Given the description of an element on the screen output the (x, y) to click on. 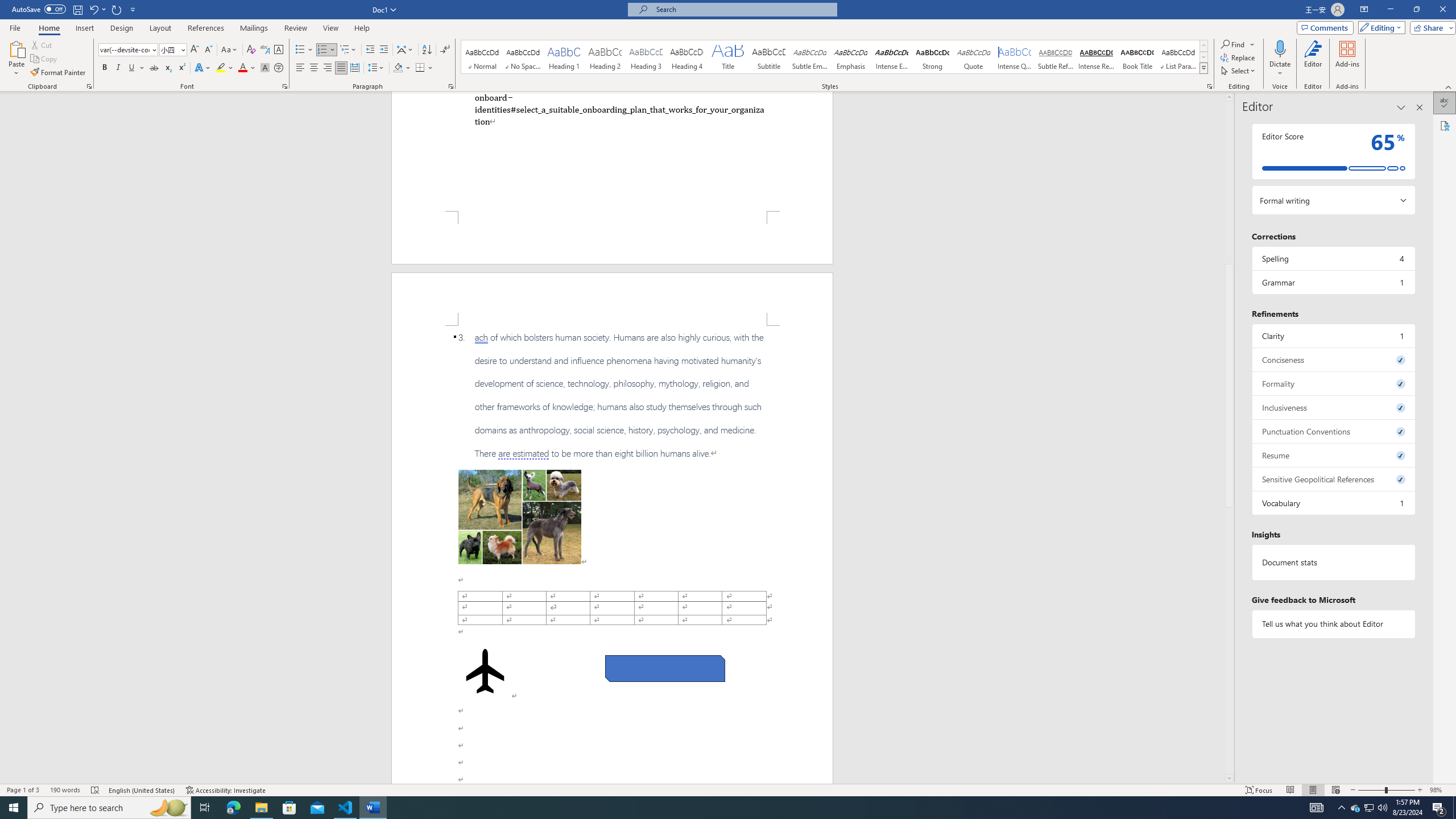
Subtitle (768, 56)
Task Pane Options (1400, 107)
Accessibility (1444, 125)
Morphological variation in six dogs (519, 517)
Justify (340, 67)
Share (1430, 27)
Phonetic Guide... (264, 49)
Show/Hide Editing Marks (444, 49)
Row Down (1203, 56)
Underline (131, 67)
Shading (402, 67)
Bold (104, 67)
Review (295, 28)
